Given the description of an element on the screen output the (x, y) to click on. 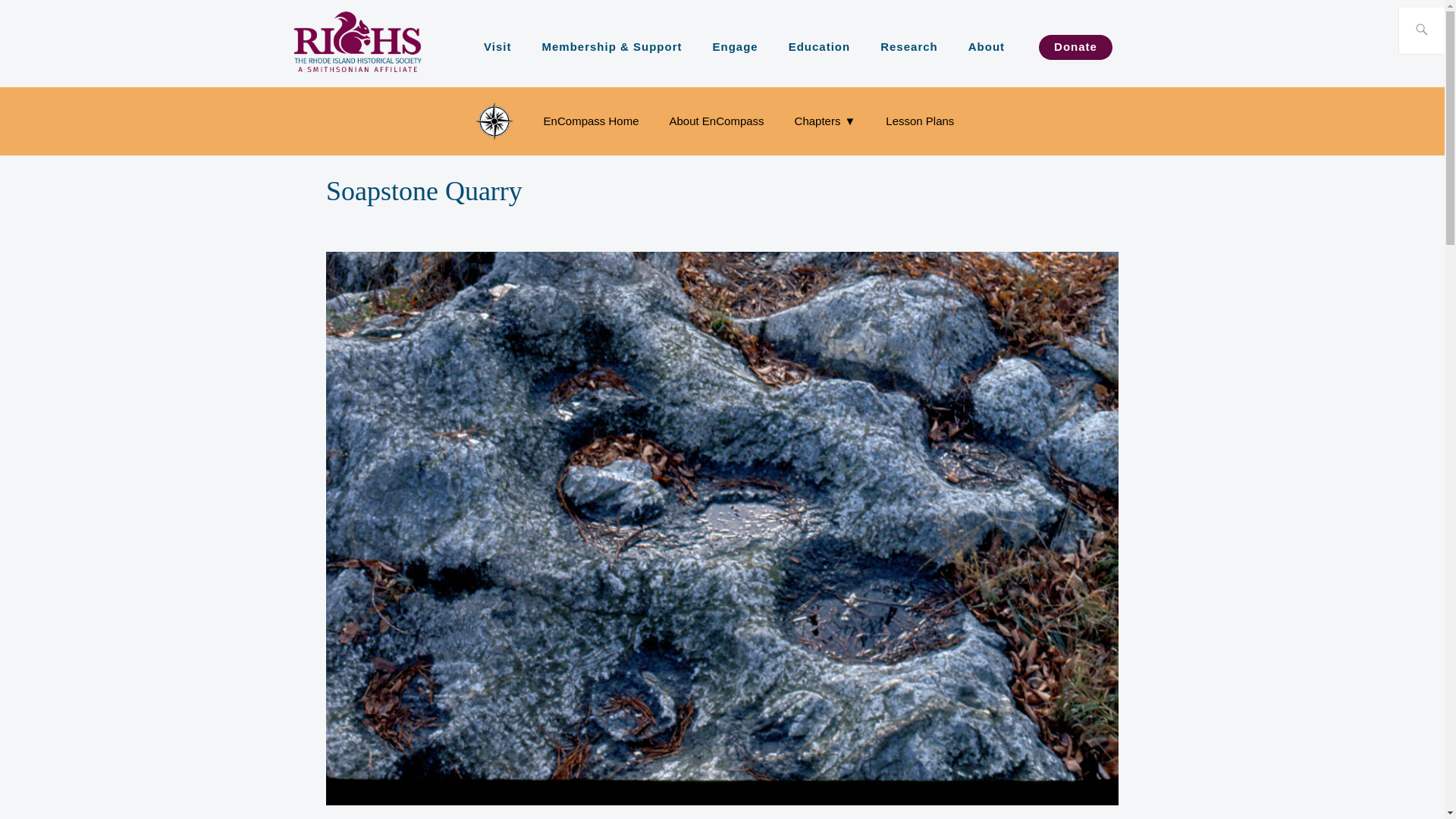
Education (819, 46)
Search (34, 12)
Research (908, 46)
Engage (734, 46)
Visit (497, 46)
About (986, 46)
